Given the description of an element on the screen output the (x, y) to click on. 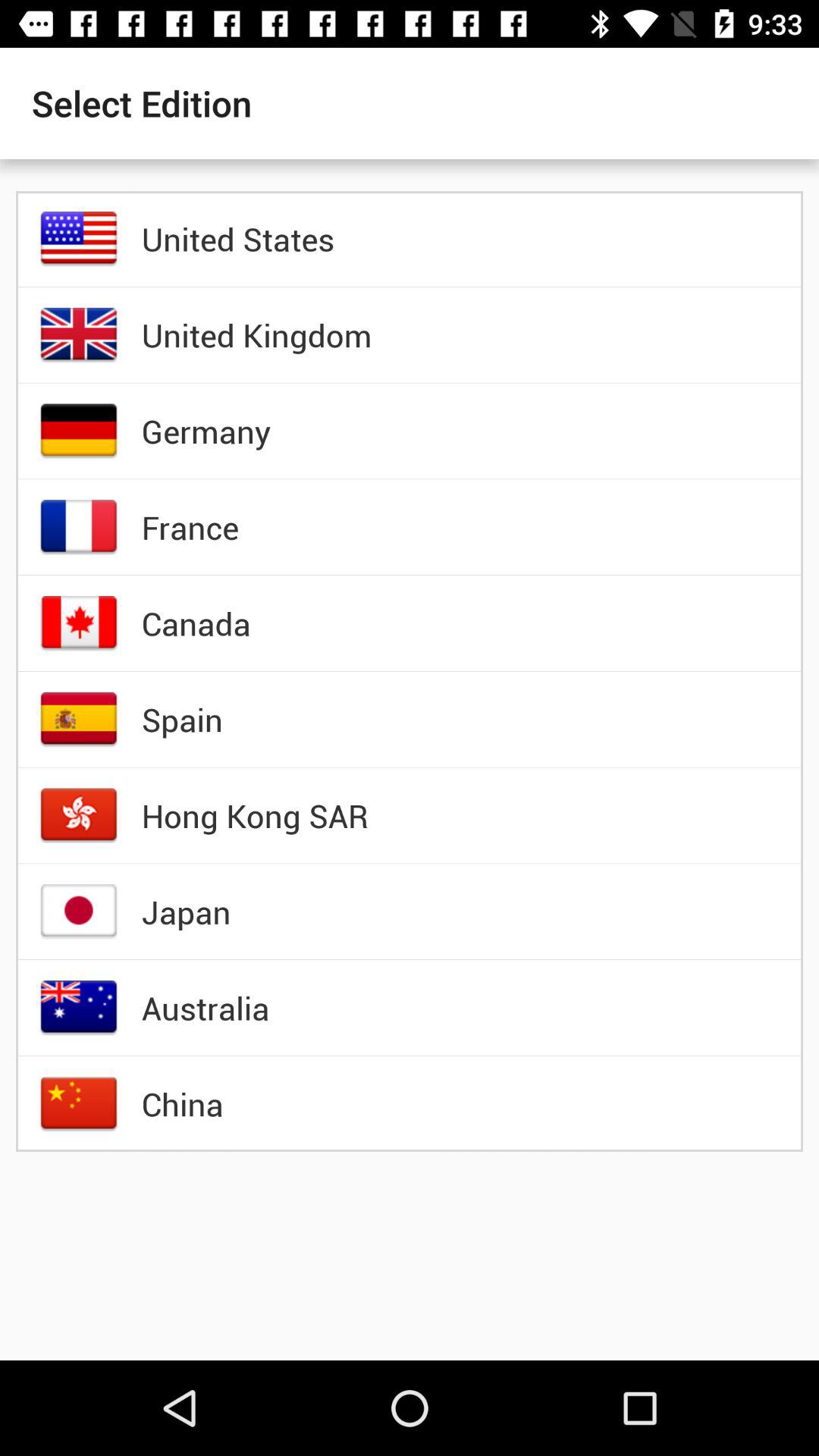
turn on the item below france item (195, 623)
